Given the description of an element on the screen output the (x, y) to click on. 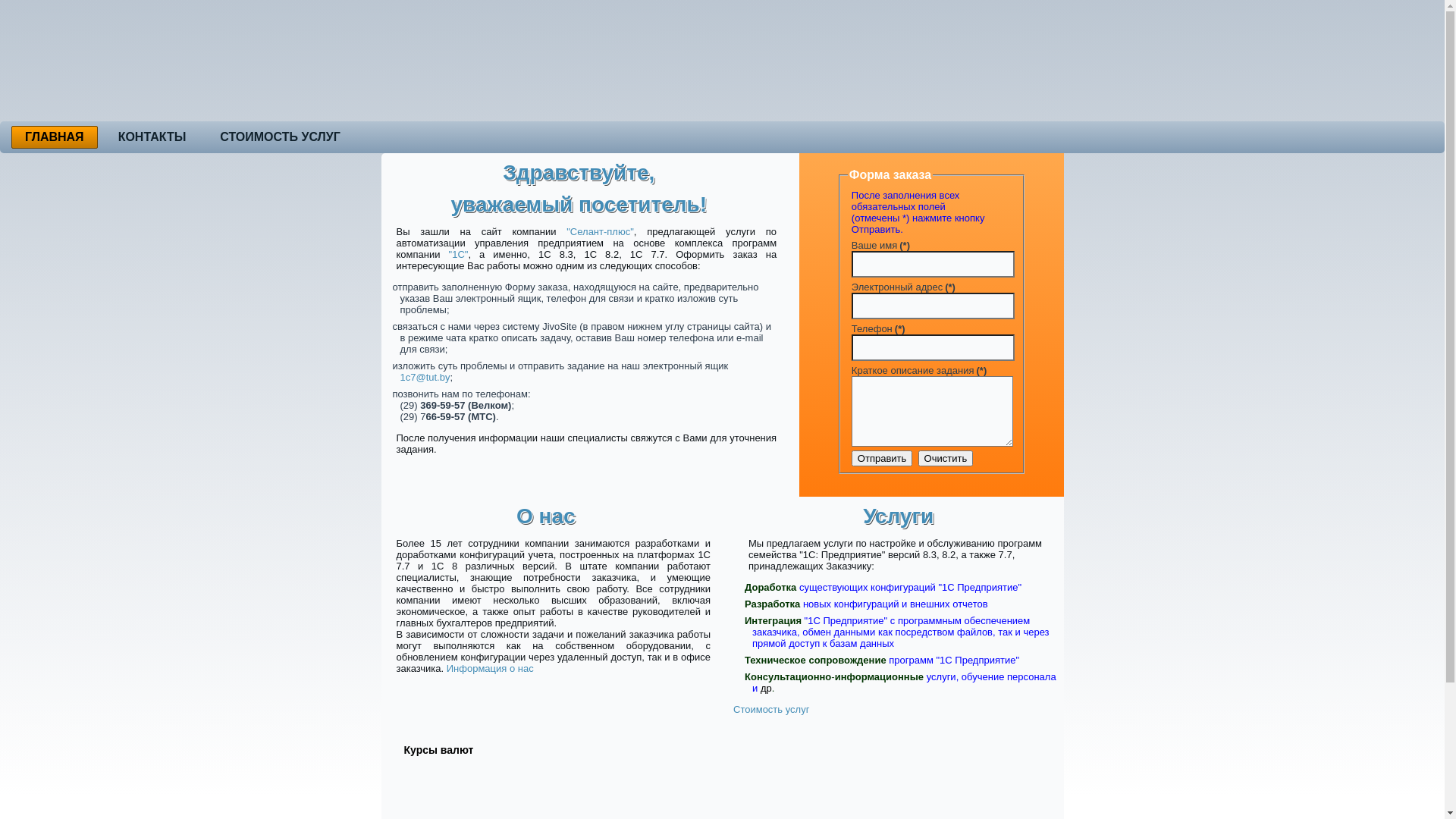
"1C" Element type: text (458, 254)
1c7@tut.by Element type: text (425, 376)
